Given the description of an element on the screen output the (x, y) to click on. 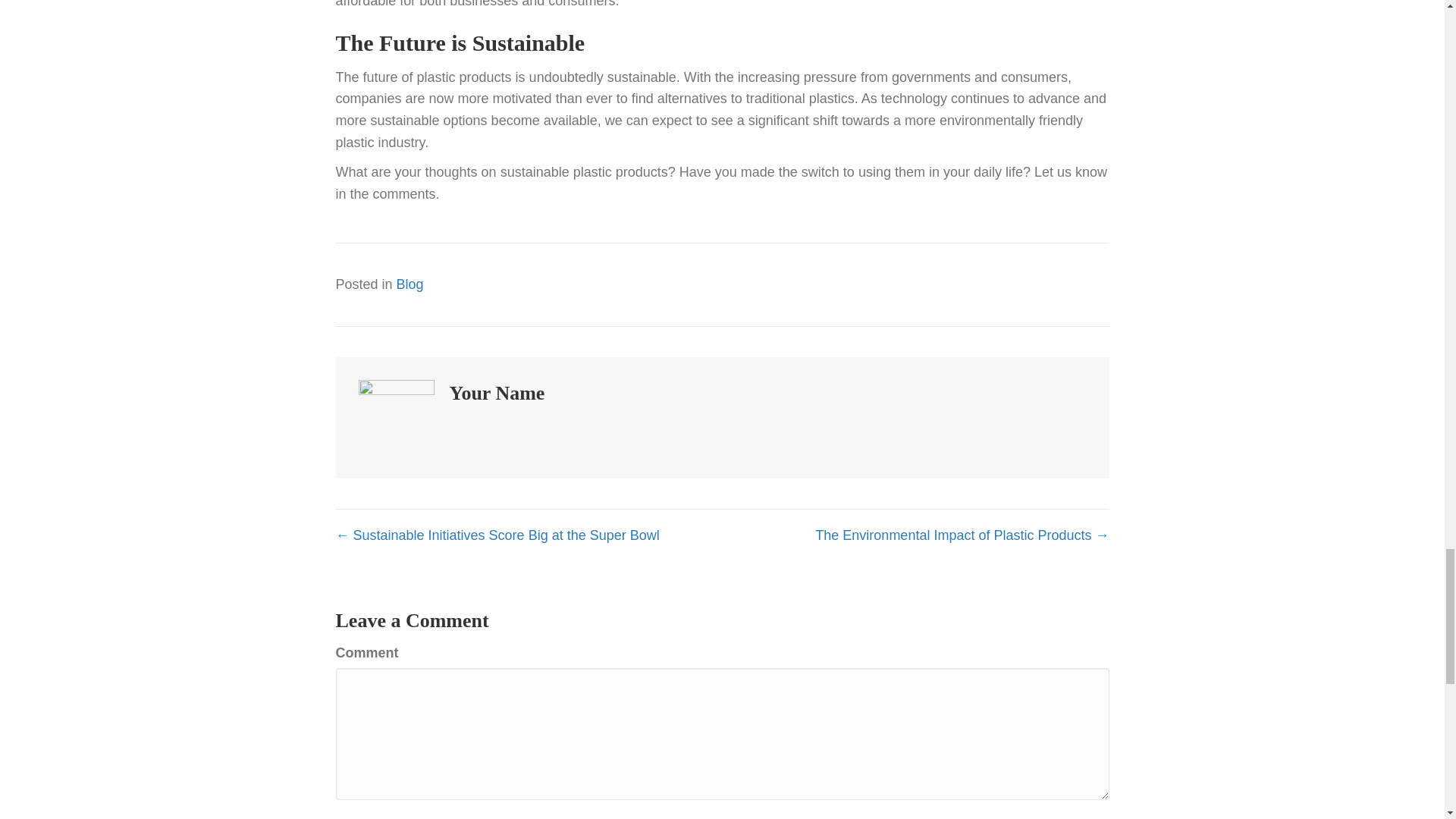
Blog (409, 283)
